Given the description of an element on the screen output the (x, y) to click on. 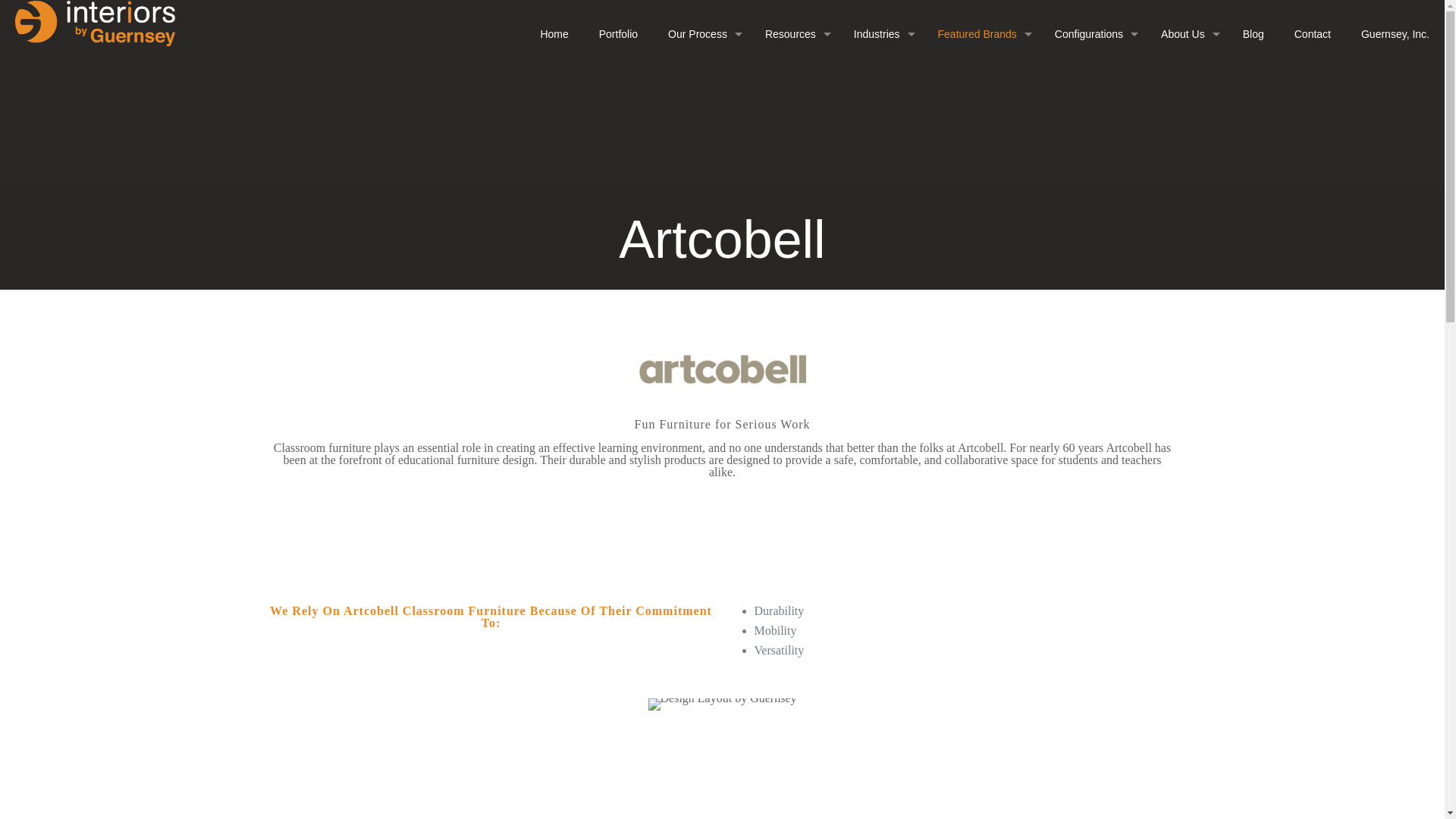
Configurations (1092, 33)
Interiors by Guernsey (94, 22)
Portfolio (617, 33)
Industries (880, 33)
About Us (1186, 33)
Our Process (700, 33)
Featured Brands (981, 33)
Resources (793, 33)
